Given the description of an element on the screen output the (x, y) to click on. 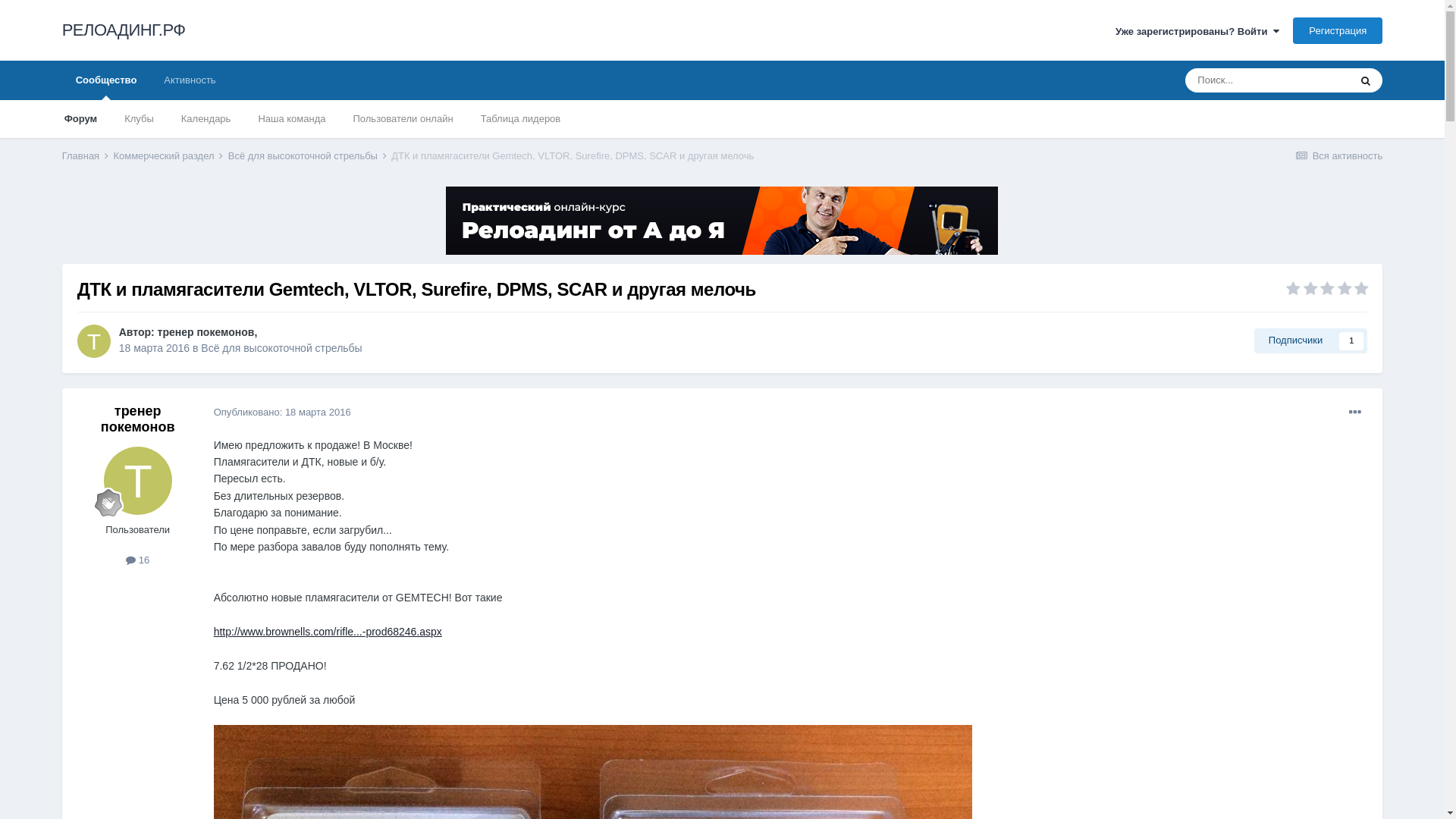
16 Element type: text (137, 559)
http://www.brownells.com/rifle...-prod68246.aspx Element type: text (327, 631)
